Given the description of an element on the screen output the (x, y) to click on. 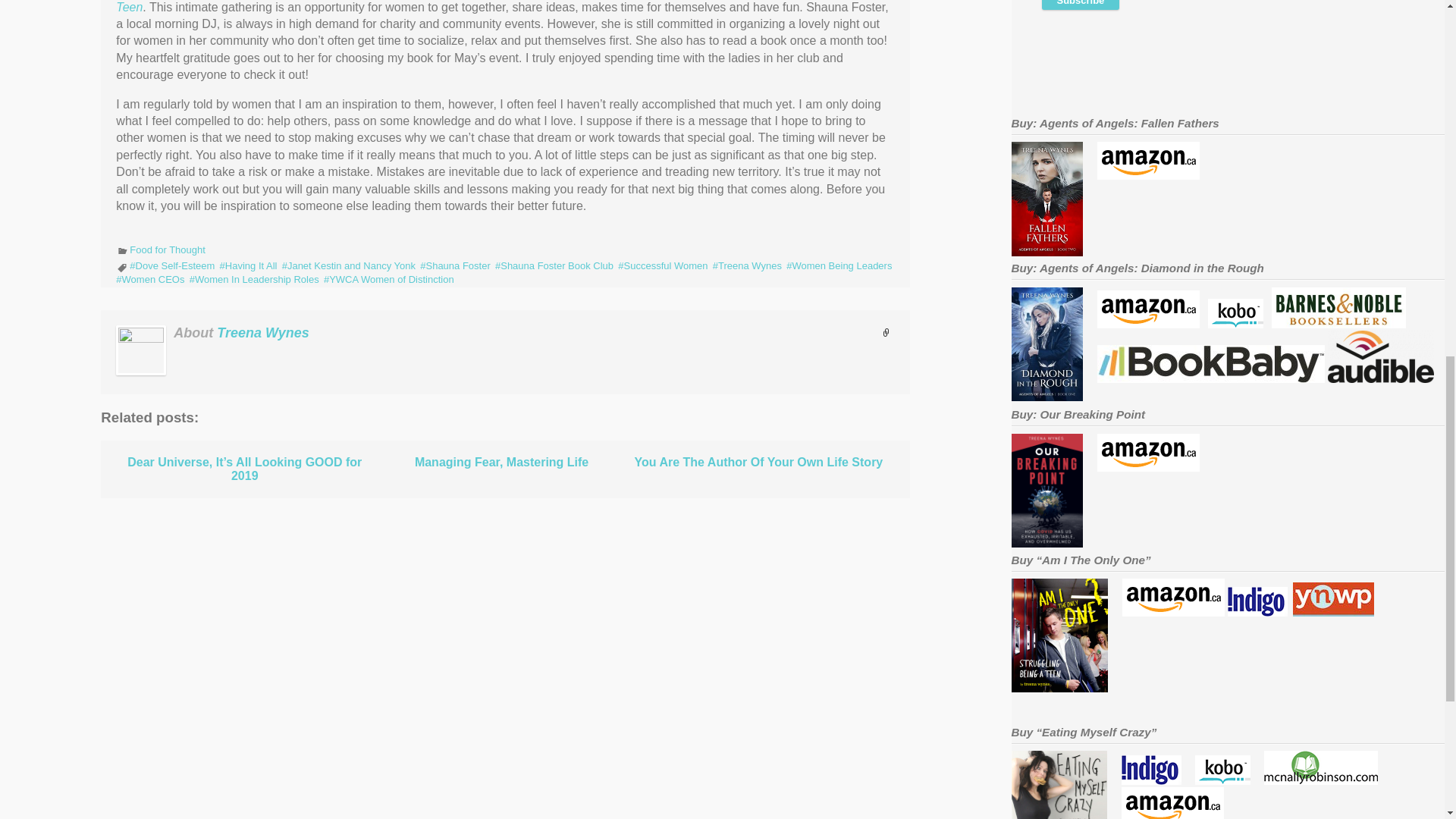
Eating Myself Crazy (1172, 817)
Shauna Foster Book Club (553, 265)
Am I the Only One (1173, 613)
Subscribe (1080, 4)
Women CEOs (150, 279)
Having It All (248, 265)
Women In Leadership Roles (253, 279)
Am I the Only One? Struggling Being a Teen (491, 6)
YWCA Women of Distinction (388, 279)
Food for Thought (167, 249)
Treena Wynes (262, 332)
Janet Kestin and Nancy Yonk (348, 265)
Successful Women (662, 265)
Women Being Leaders (838, 265)
Am I the Only One (1333, 613)
